Given the description of an element on the screen output the (x, y) to click on. 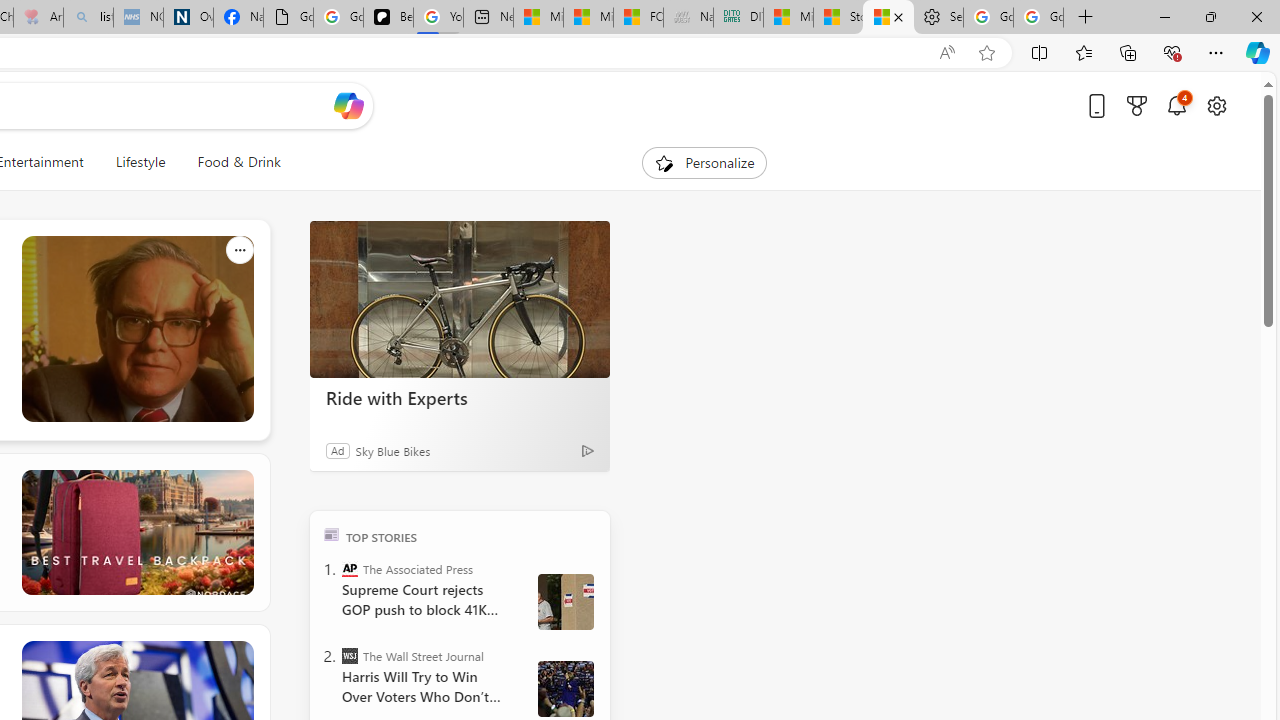
Ad Choice (587, 449)
See more (239, 654)
DITOGAMES AG Imprint (738, 17)
Lifestyle (139, 162)
Personalize (703, 162)
Lifestyle (140, 162)
The Wall Street Journal (349, 655)
